Given the description of an element on the screen output the (x, y) to click on. 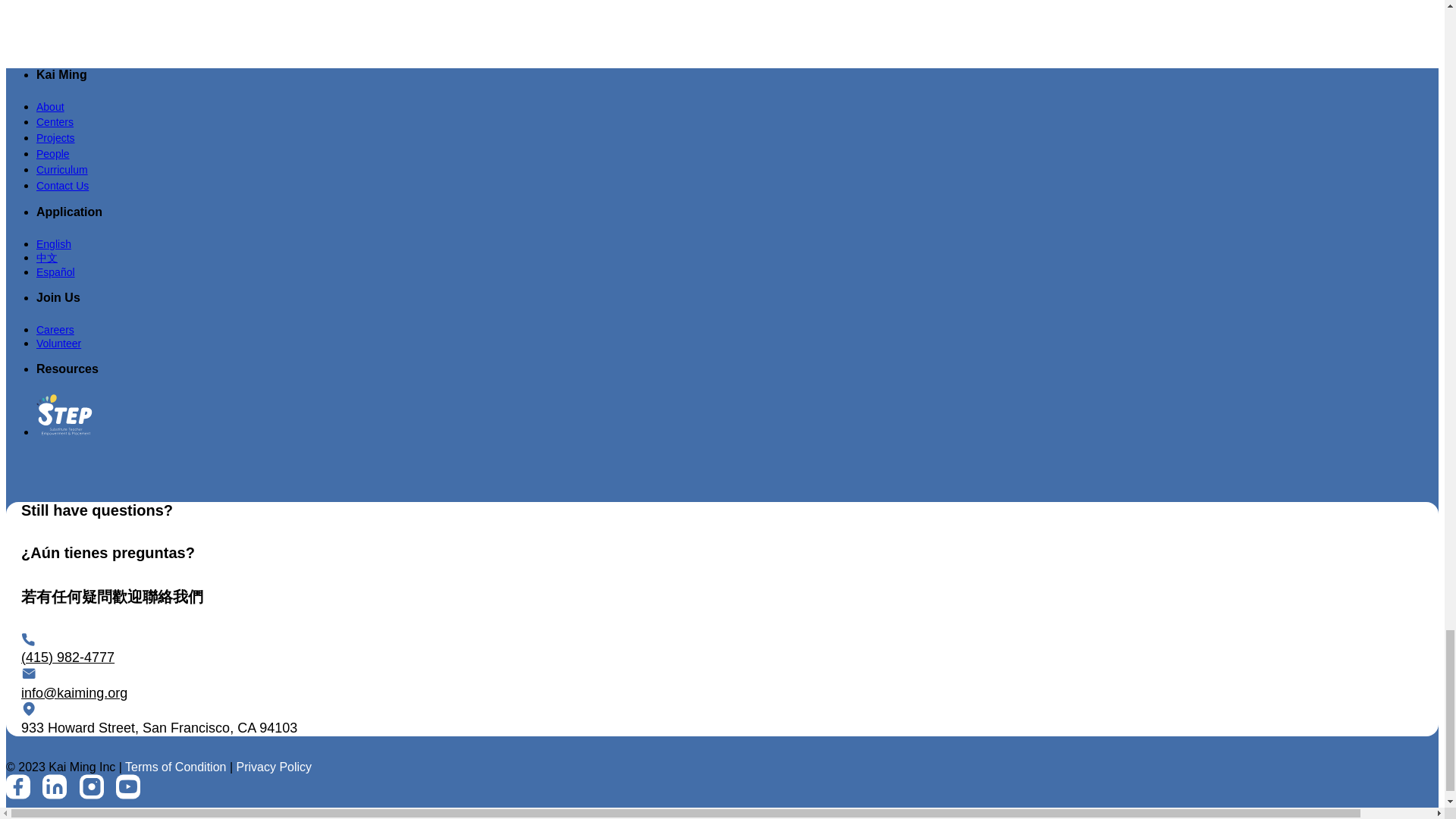
About (50, 106)
Projects (55, 136)
Centers (55, 120)
